Given the description of an element on the screen output the (x, y) to click on. 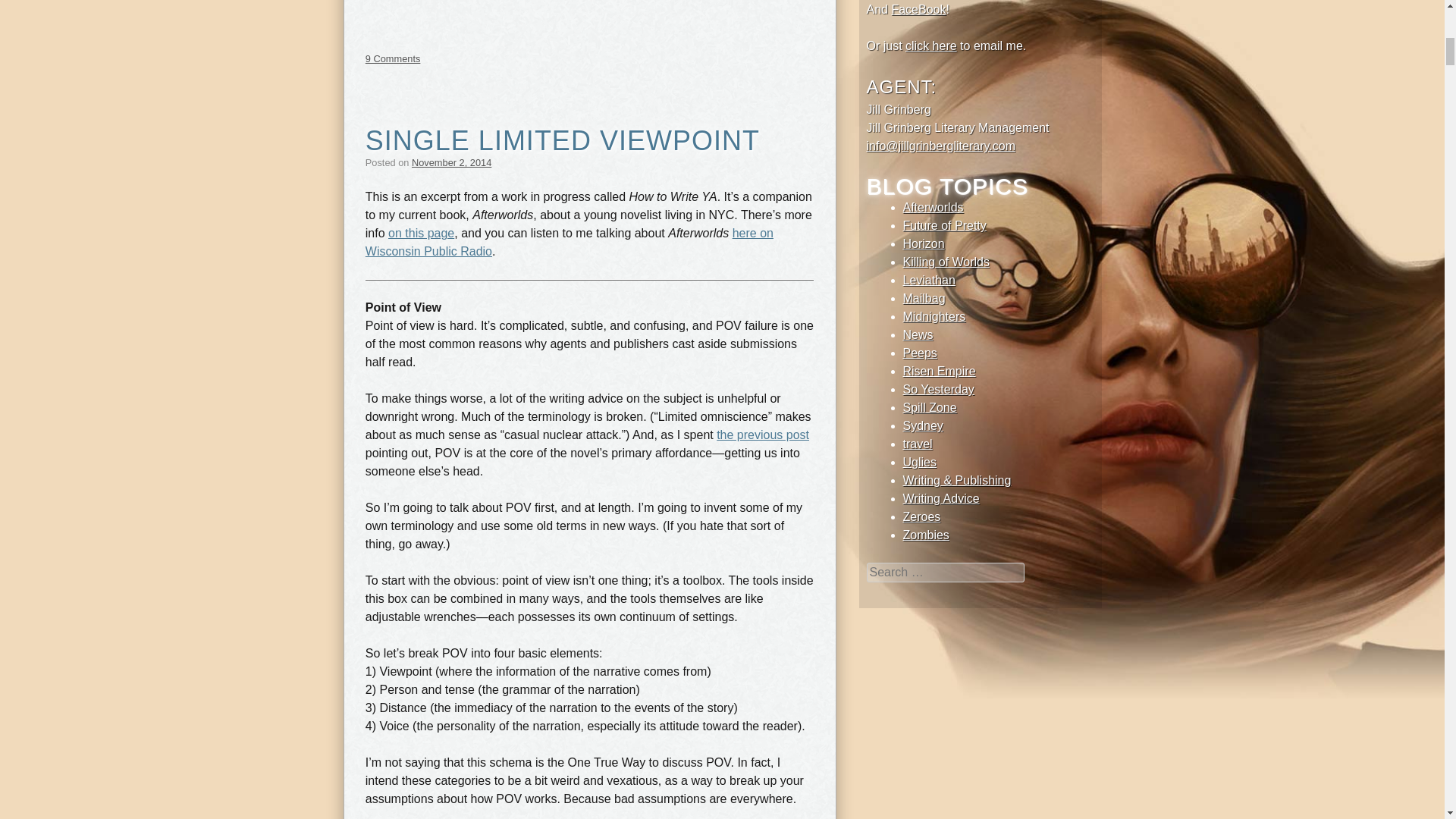
on this page (421, 232)
November 2, 2014 (452, 162)
SINGLE LIMITED VIEWPOINT (562, 140)
here on Wisconsin Public Radio (569, 241)
the previous post (762, 434)
9 Comments (392, 58)
